Given the description of an element on the screen output the (x, y) to click on. 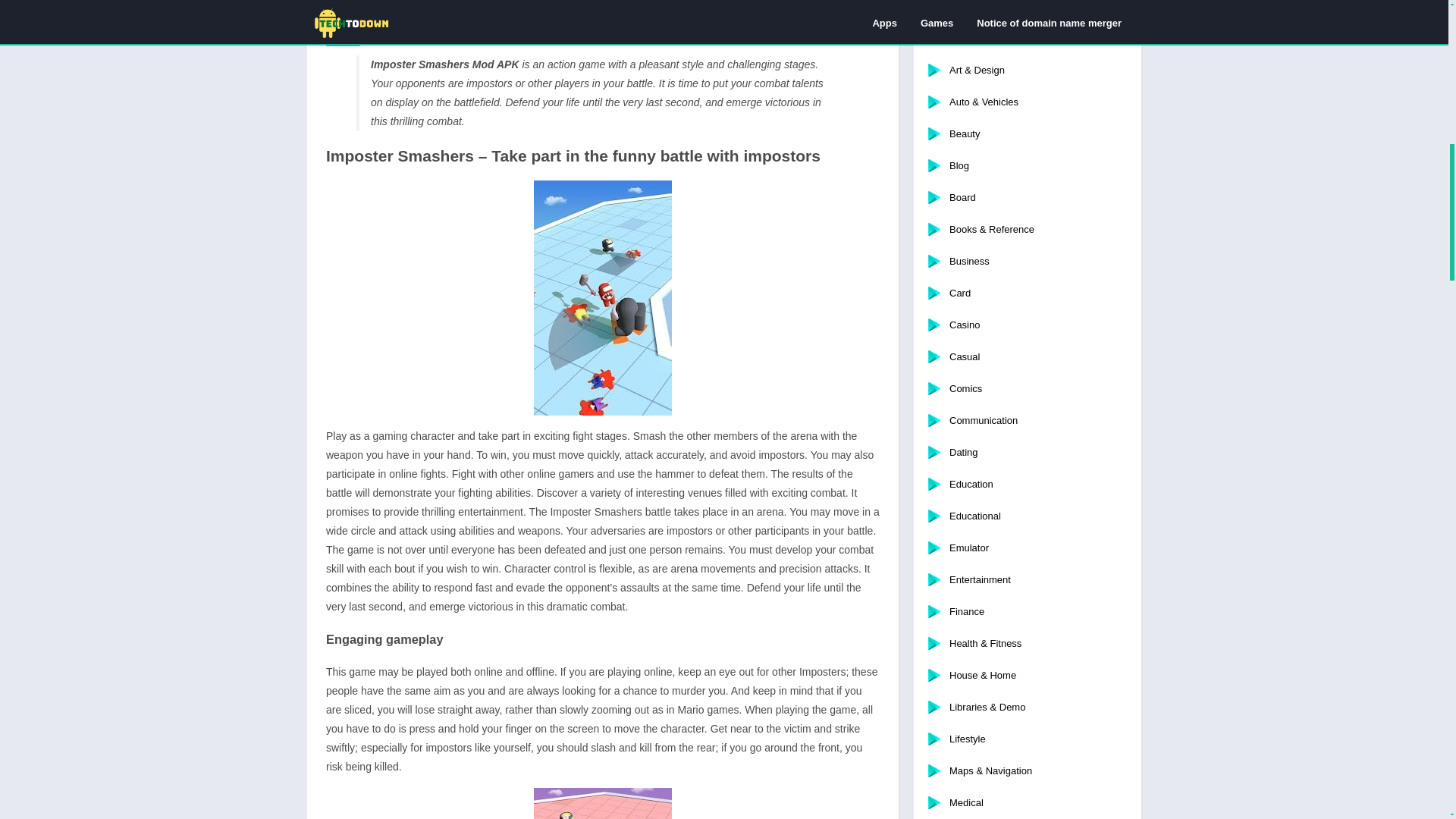
Imposter Smashers 3 (602, 803)
